Given the description of an element on the screen output the (x, y) to click on. 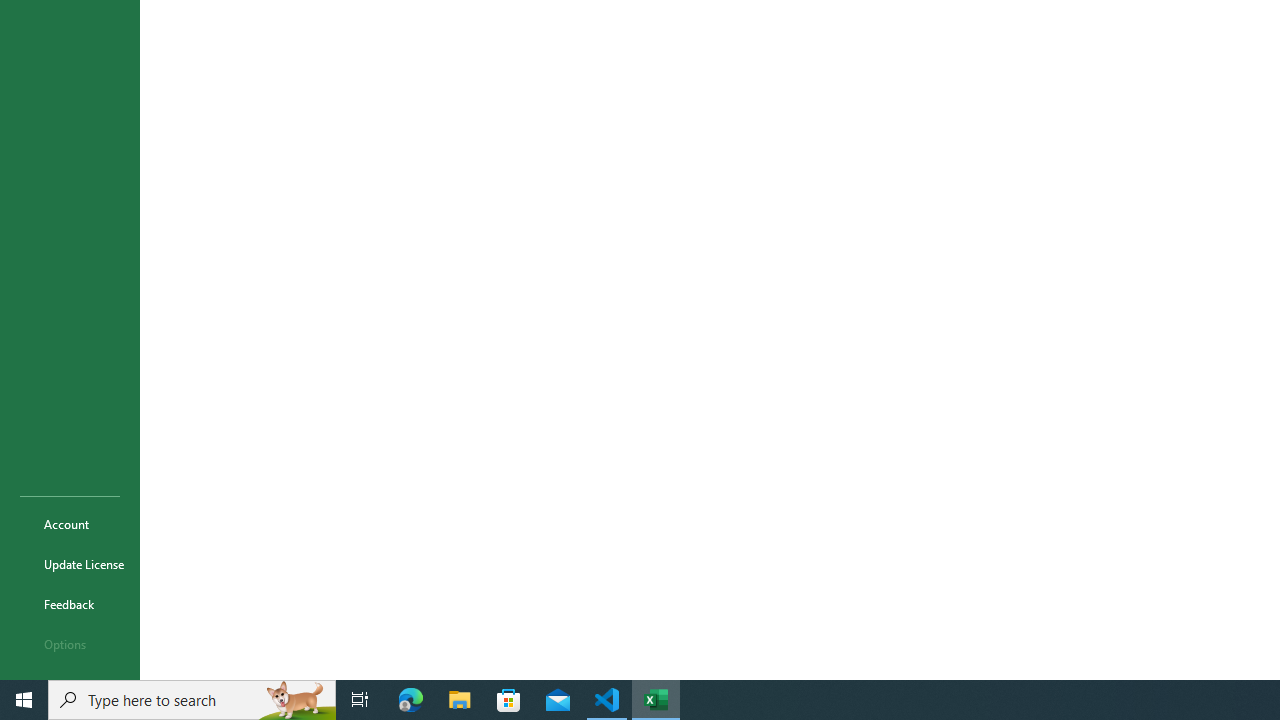
Options (69, 643)
Feedback (69, 603)
Update License (69, 563)
Account (69, 523)
